Given the description of an element on the screen output the (x, y) to click on. 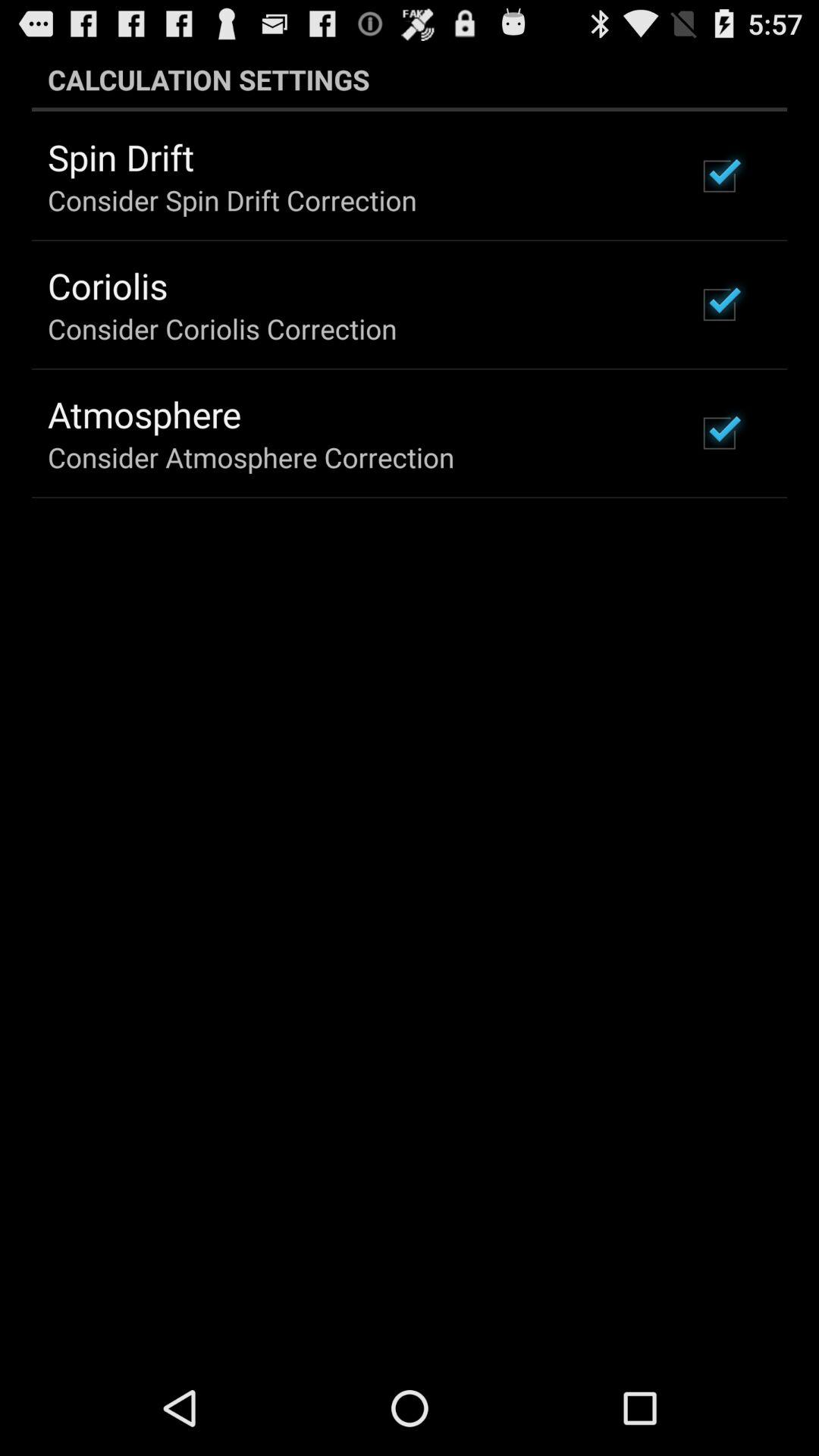
swipe to the calculation settings icon (409, 79)
